Given the description of an element on the screen output the (x, y) to click on. 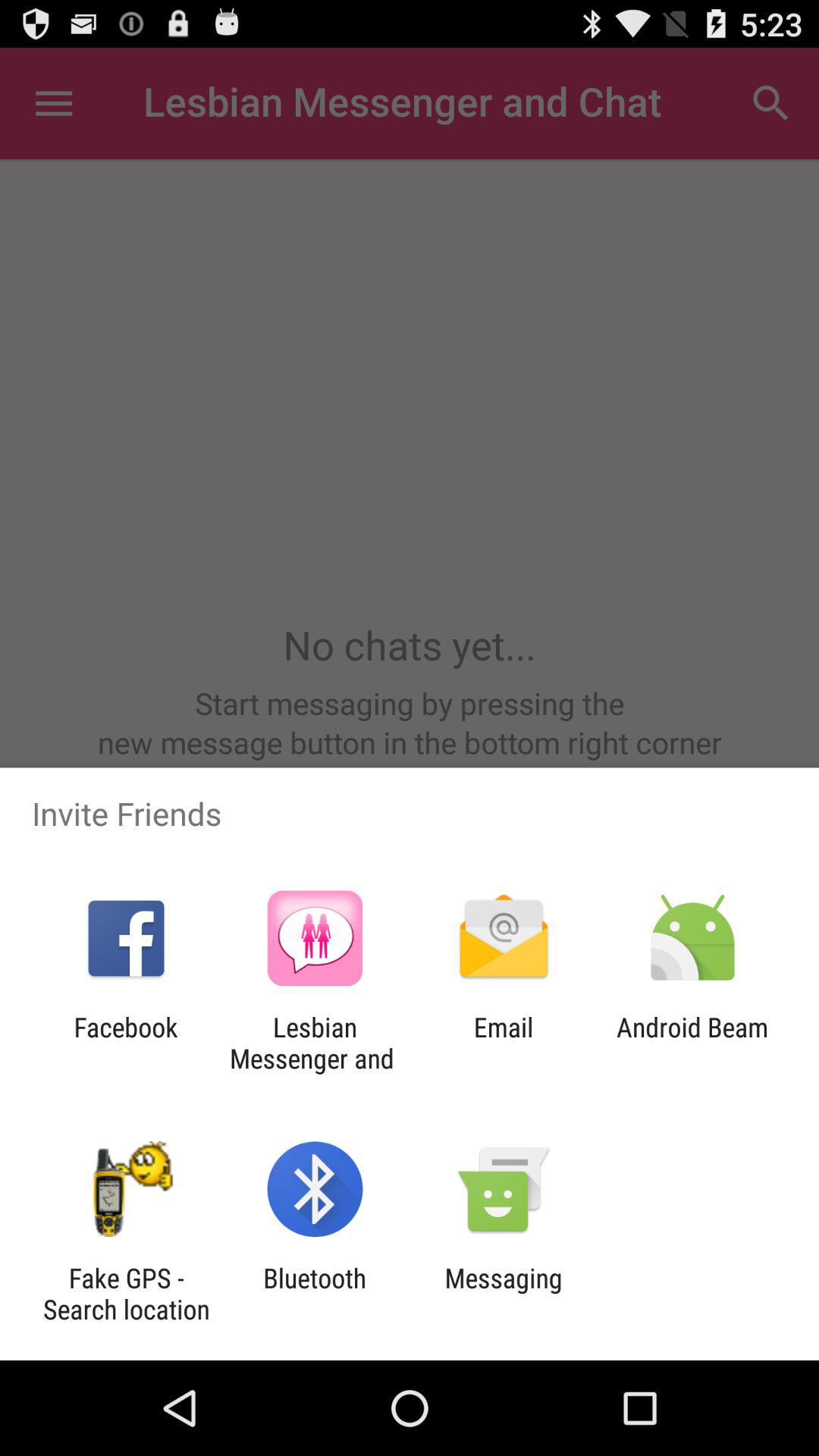
turn on app next to the messaging (314, 1293)
